Given the description of an element on the screen output the (x, y) to click on. 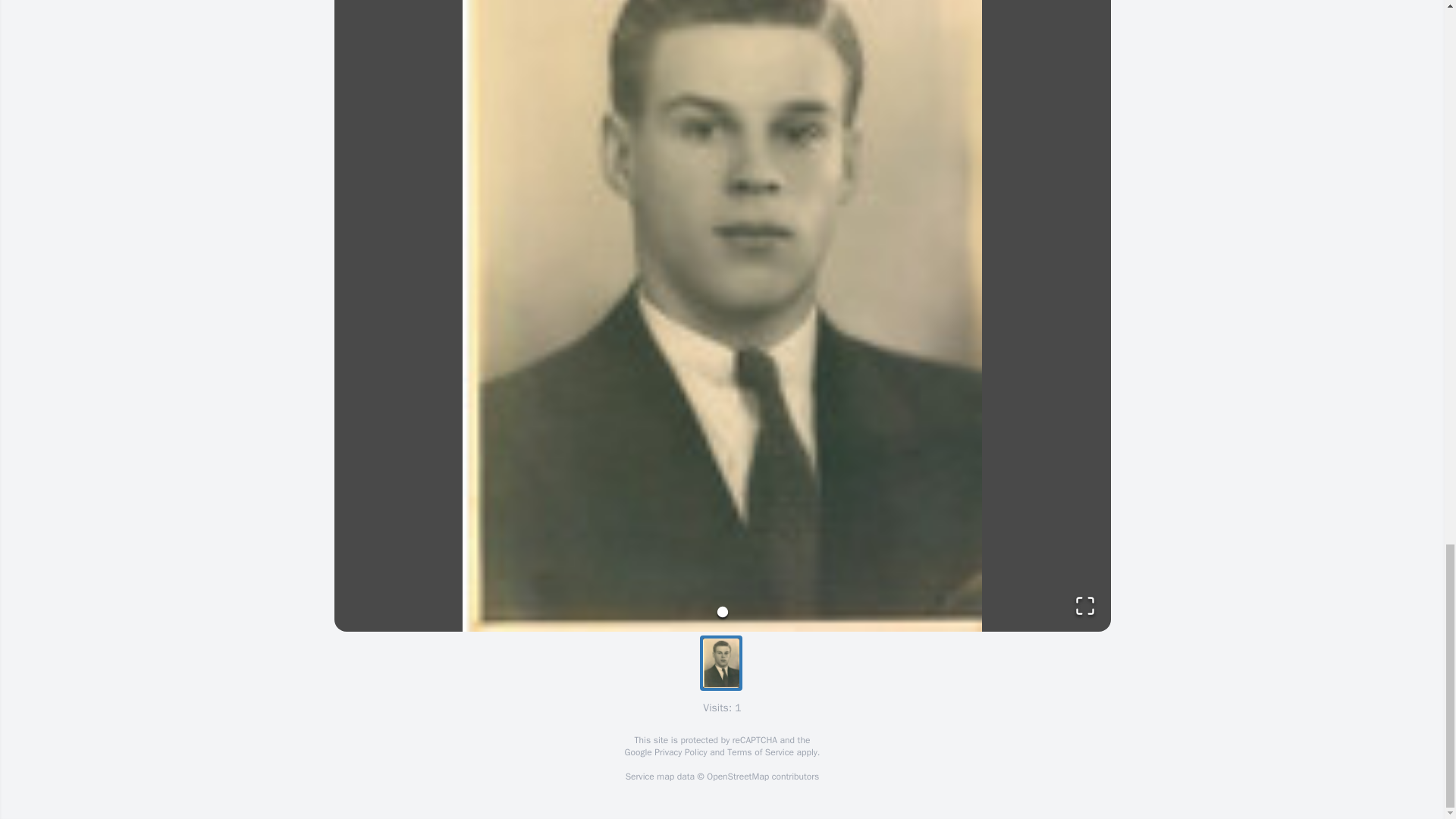
OpenStreetMap (737, 776)
Terms of Service (759, 752)
Privacy Policy (679, 752)
